Given the description of an element on the screen output the (x, y) to click on. 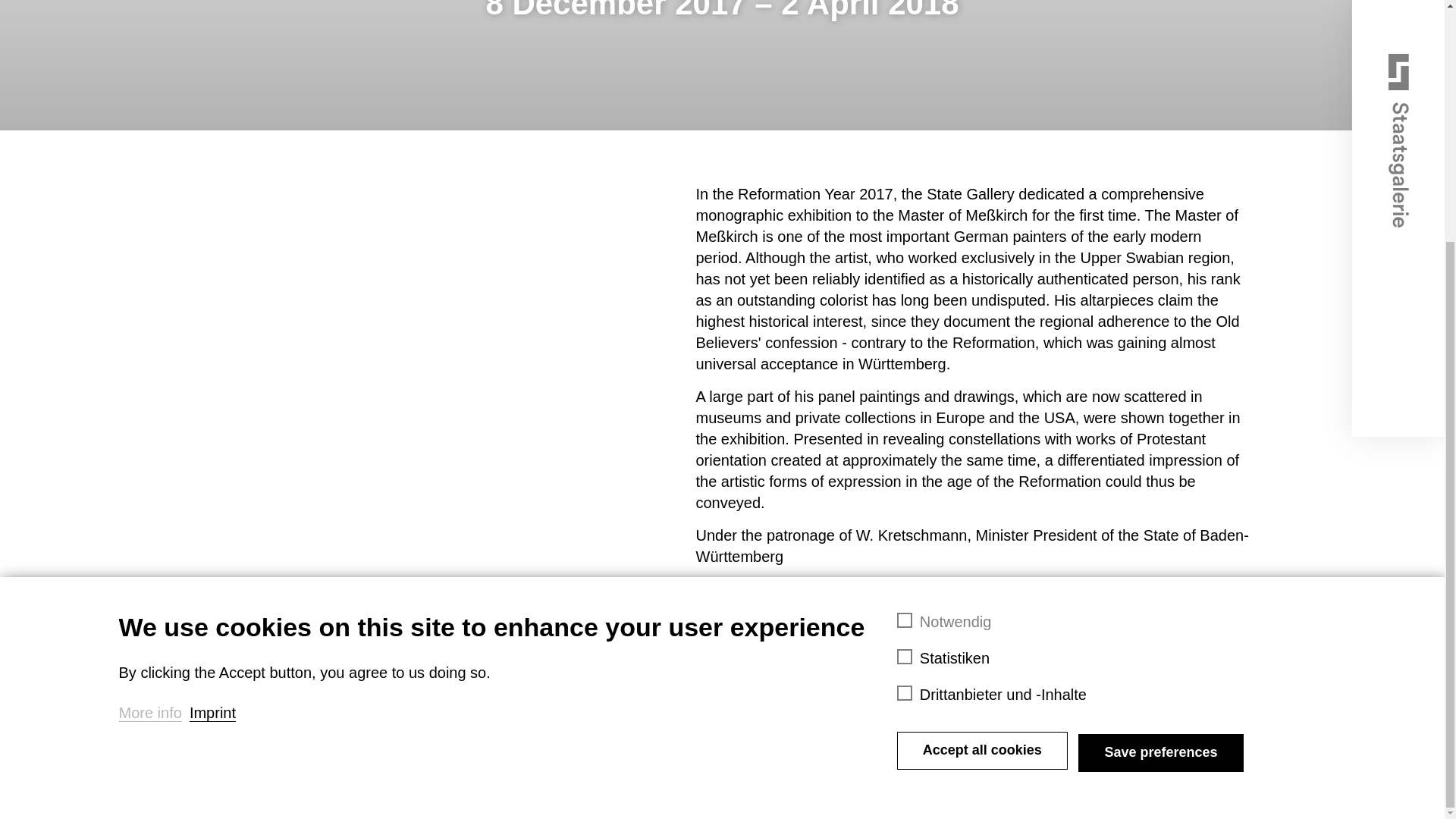
More information about location (647, 788)
To our opening hours (658, 809)
Imprint (212, 379)
Zu unserem YouTube-Kanal. (628, 776)
Zu unserem Linkedin-Kanal. (627, 746)
To our privacy policy (645, 715)
Schreiben Sie uns eine E-Mail. (681, 687)
To our imprint (625, 686)
